Given the description of an element on the screen output the (x, y) to click on. 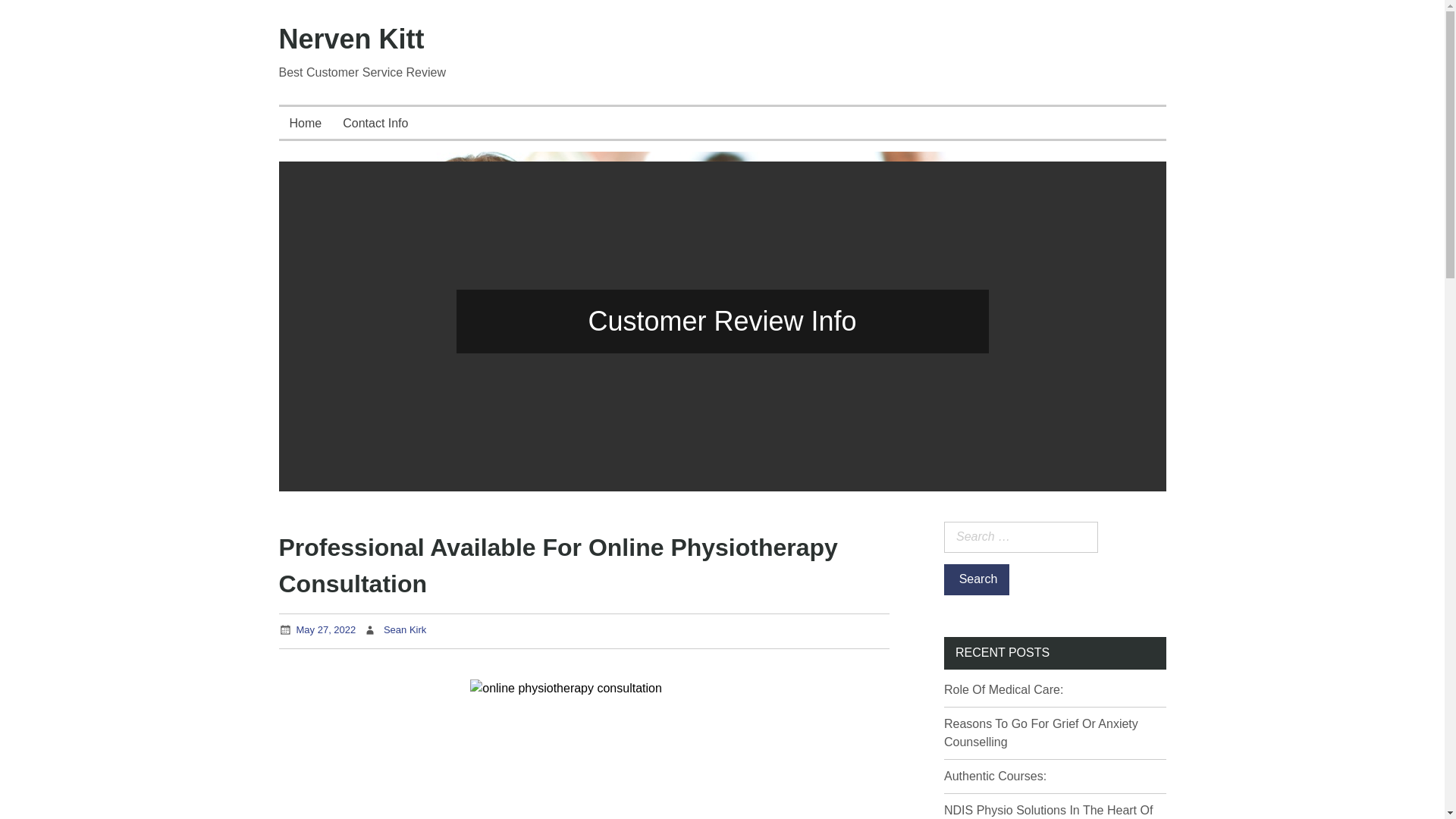
Home (306, 122)
Search (976, 579)
Role Of Medical Care: (1002, 689)
Reasons To Go For Grief Or Anxiety Counselling (1040, 732)
Search (976, 579)
Search (976, 579)
Nerven Kitt (352, 38)
Contact Info (375, 122)
online physiotherapy consultation (583, 749)
NDIS Physio Solutions In The Heart Of Burwood (1048, 811)
Authentic Courses: (994, 775)
May 27, 2022 (325, 629)
Sean Kirk (405, 629)
